Given the description of an element on the screen output the (x, y) to click on. 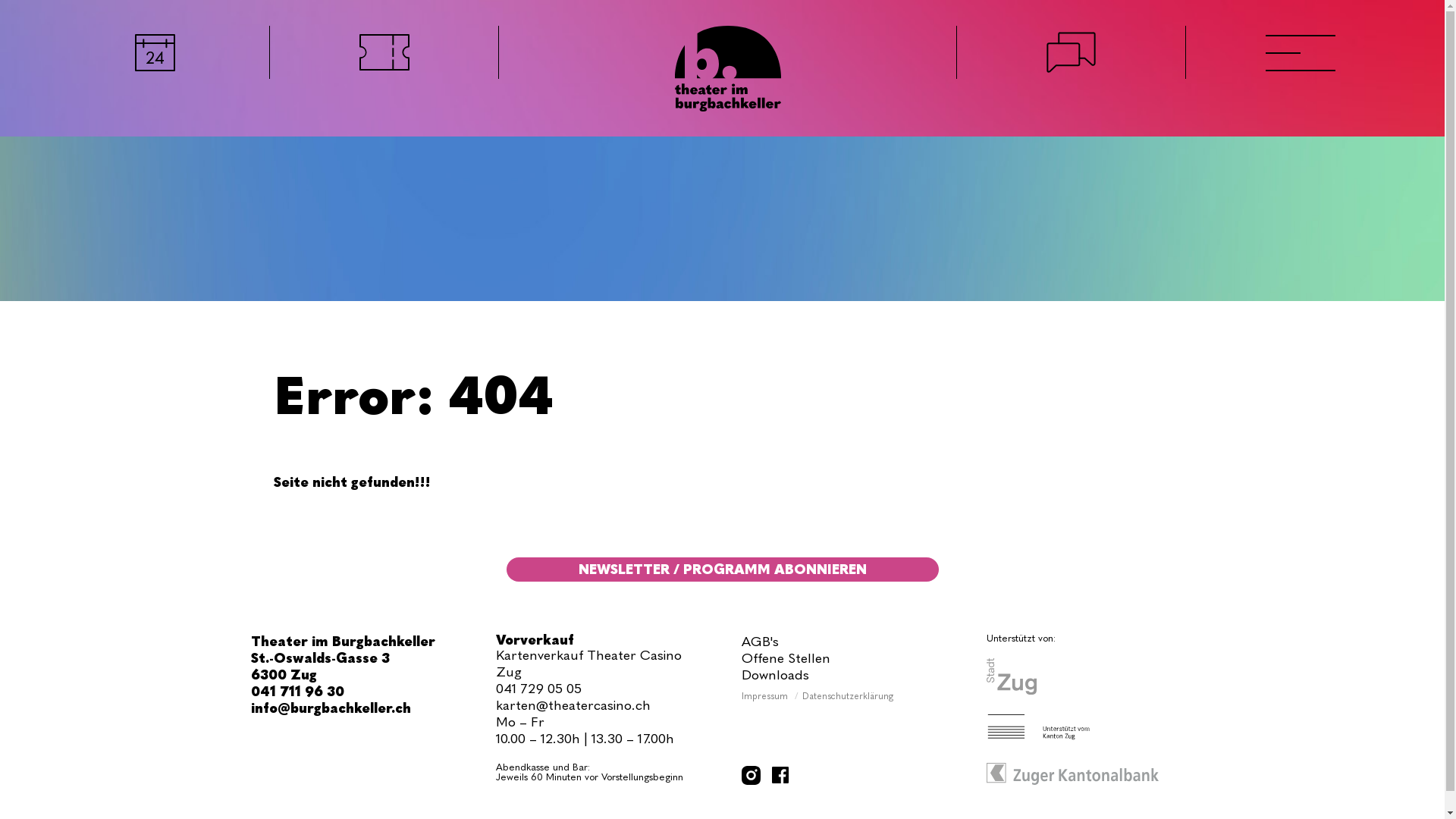
info@burgbachkeller.ch Element type: text (330, 707)
karten@theatercasino.ch Element type: text (572, 704)
AGB's Element type: text (759, 641)
Offene Stellen Element type: text (785, 657)
Downloads Element type: text (775, 674)
041 711 96 30 Element type: text (296, 691)
NEWSLETTER / PROGRAMM ABONNIEREN Element type: text (722, 569)
Impressum Element type: text (765, 695)
041 729 05 05 Element type: text (538, 688)
